Given the description of an element on the screen output the (x, y) to click on. 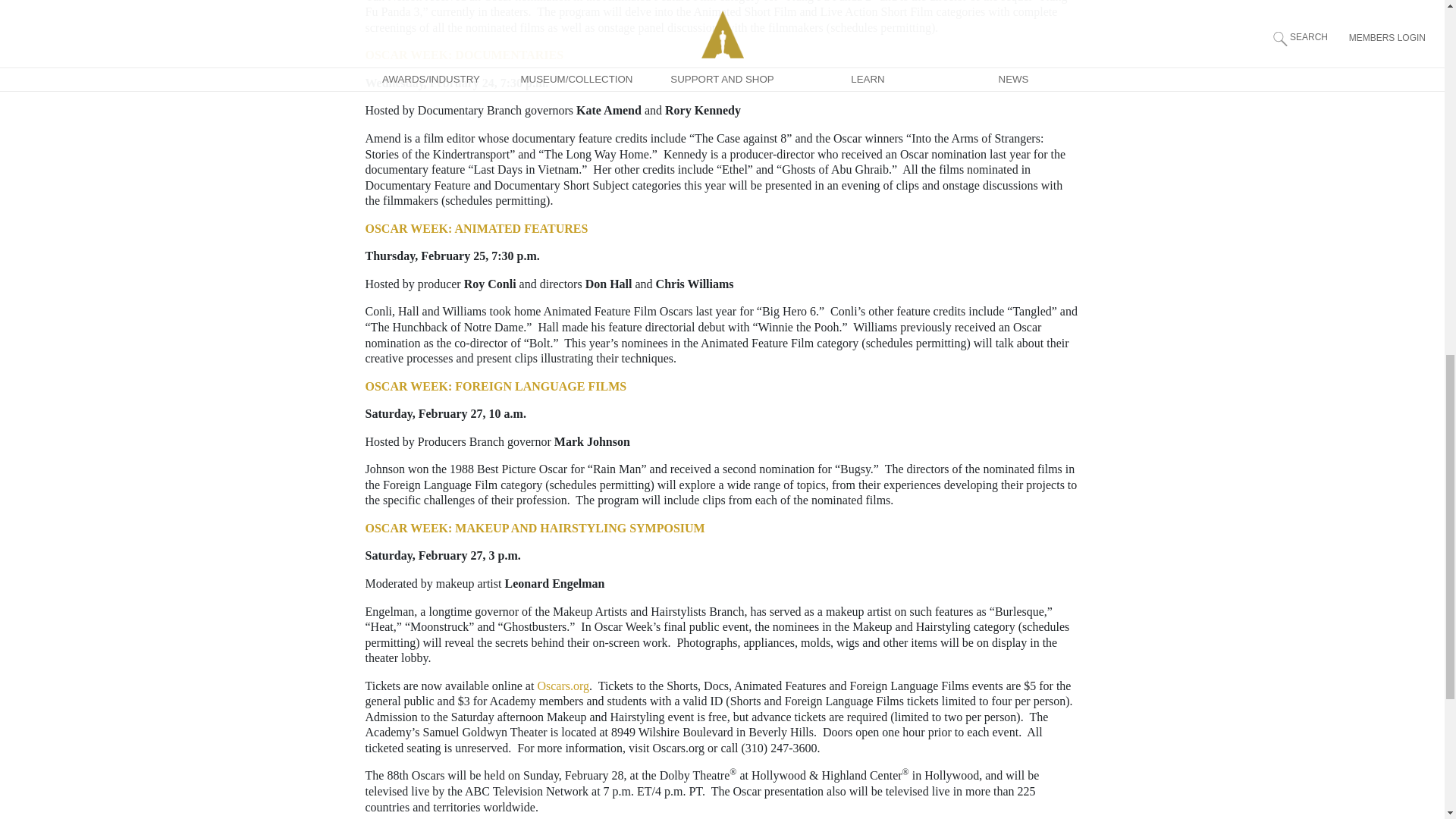
Cookie Declaration (1202, 18)
I ACCEPT (82, 41)
USE NECESSARY COOKIES ONLY (208, 41)
SHOW DETAILS (334, 41)
Privacy Policy (623, 18)
